Given the description of an element on the screen output the (x, y) to click on. 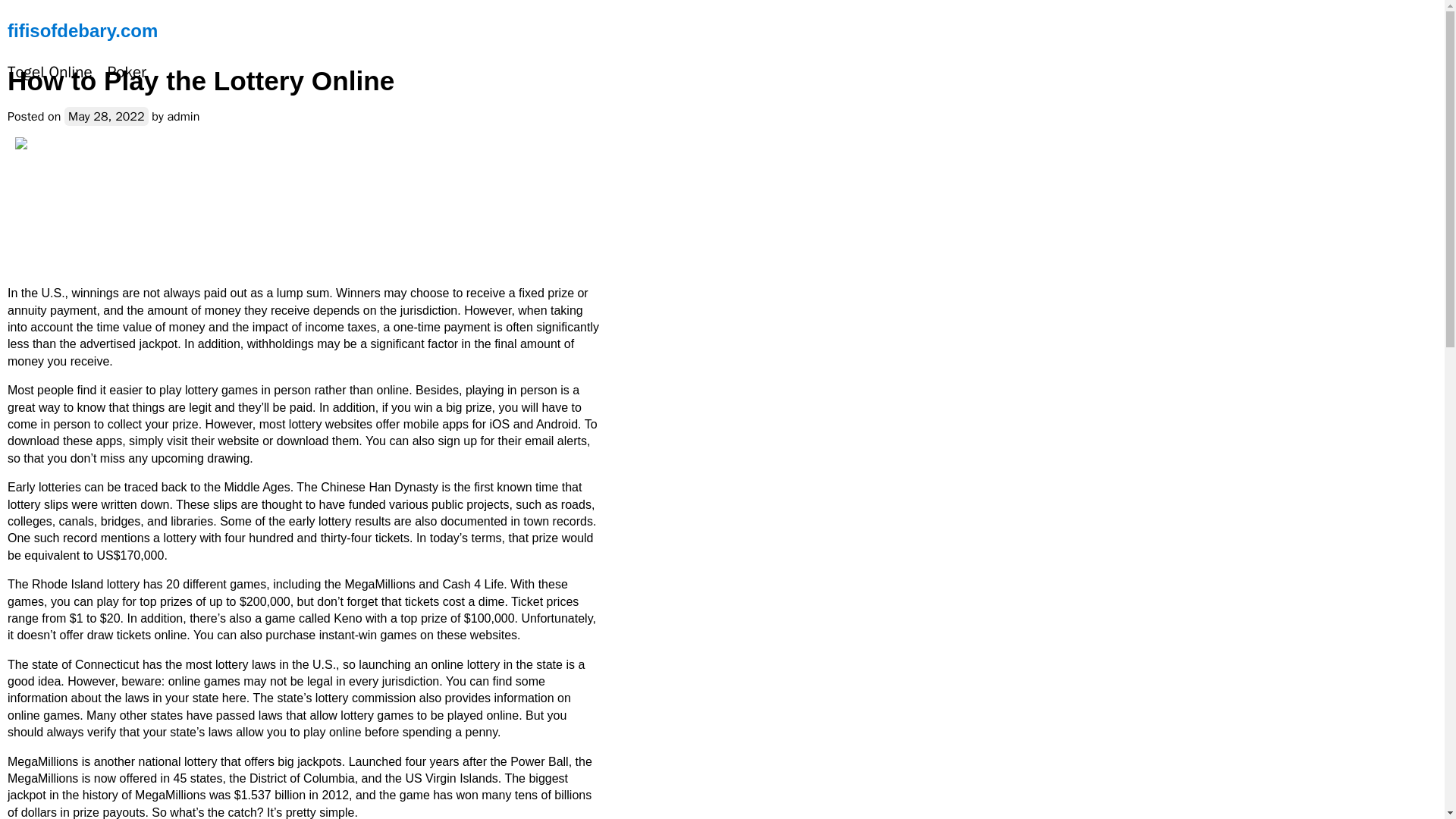
admin (183, 116)
May 28, 2022 (106, 116)
Poker (127, 73)
Togel Online (50, 73)
fifisofdebary.com (82, 30)
